Given the description of an element on the screen output the (x, y) to click on. 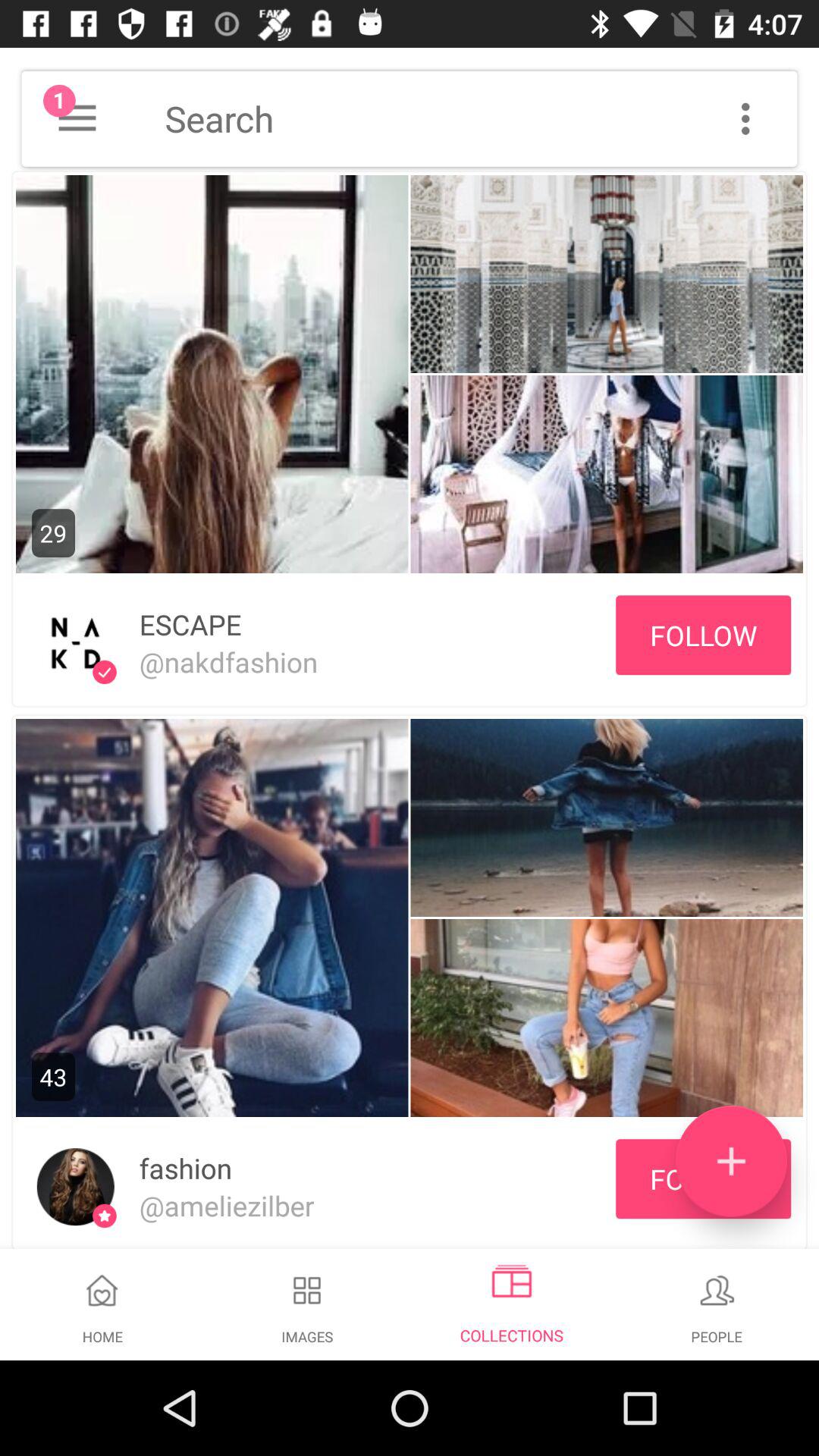
more options for search (745, 118)
